Given the description of an element on the screen output the (x, y) to click on. 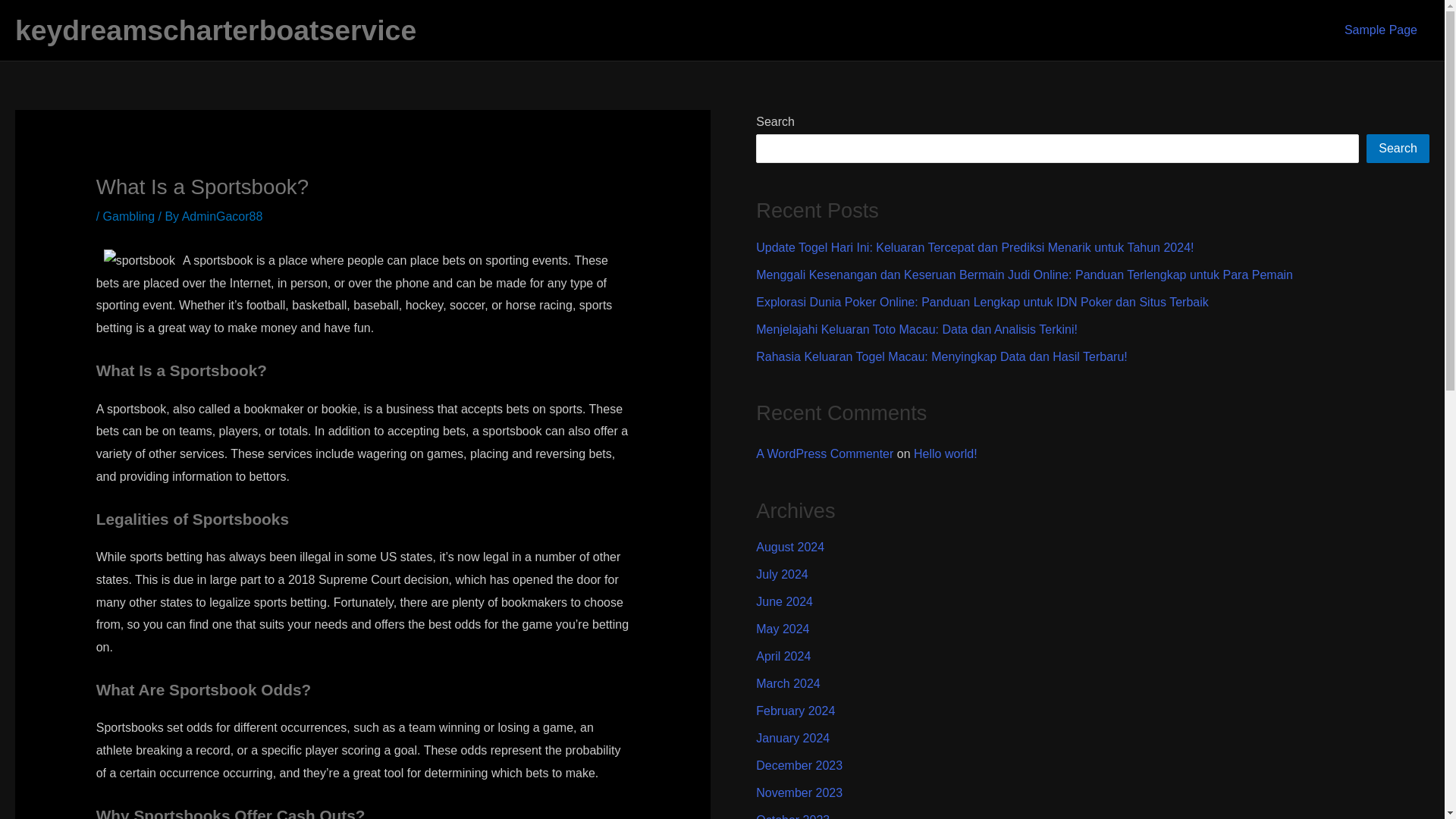
Gambling (128, 215)
April 2024 (782, 656)
View all posts by AdminGacor88 (222, 215)
October 2023 (792, 816)
Sample Page (1380, 30)
Hello world! (945, 453)
December 2023 (799, 765)
